Given the description of an element on the screen output the (x, y) to click on. 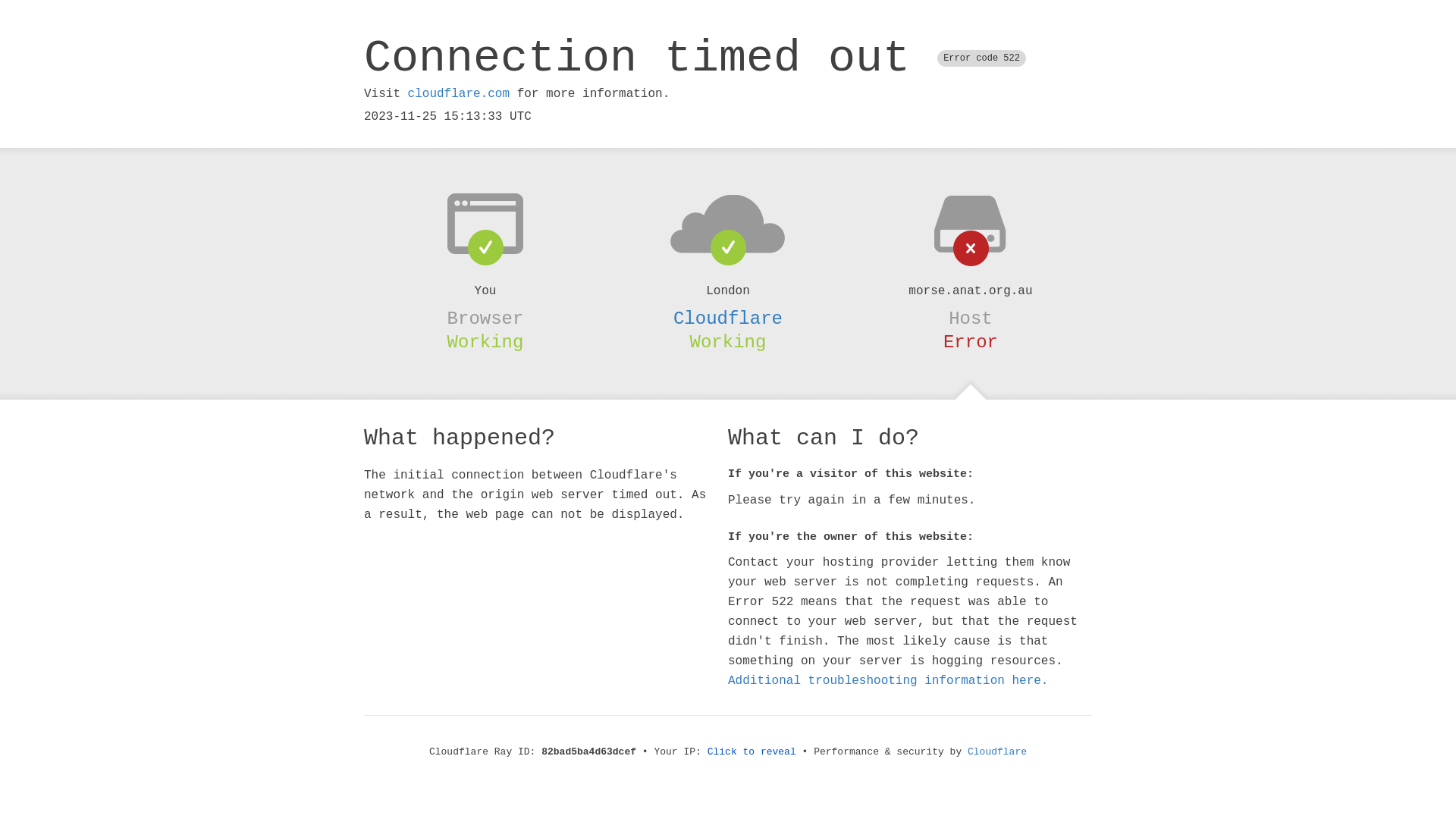
Cloudflare Element type: text (727, 318)
Cloudflare Element type: text (996, 751)
Additional troubleshooting information here. Element type: text (888, 680)
Click to reveal Element type: text (751, 751)
cloudflare.com Element type: text (458, 93)
